Given the description of an element on the screen output the (x, y) to click on. 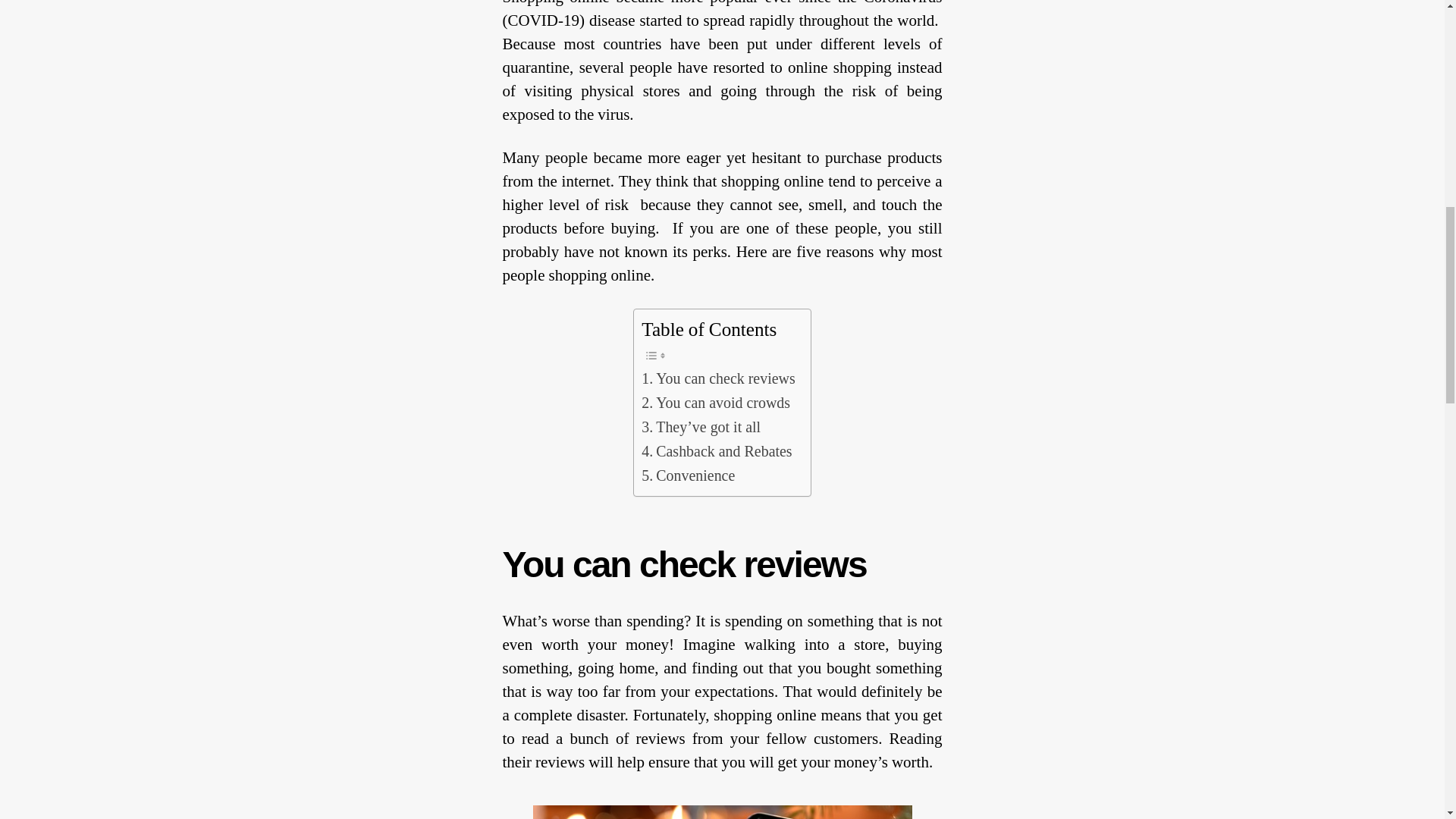
Convenience (688, 476)
You can avoid crowds (716, 403)
Cashback and Rebates (717, 451)
You can check reviews (718, 378)
